Given the description of an element on the screen output the (x, y) to click on. 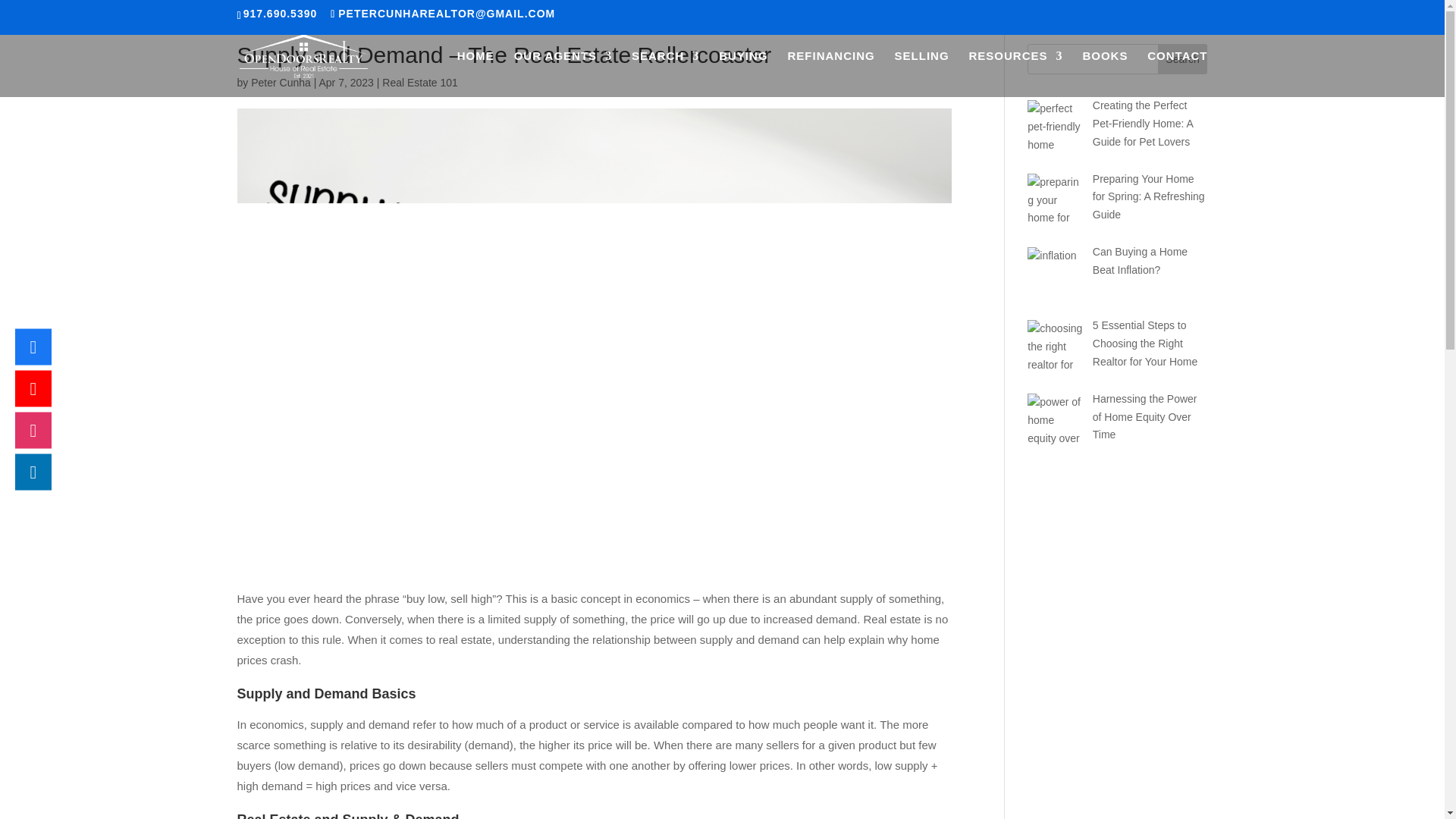
Search (1182, 59)
Peter Cunha (280, 82)
Serach  (664, 69)
Can Buying a Home Beat Inflation? (1140, 260)
Real Estate 101 (419, 82)
Selling your Home (922, 69)
Buying a Home (743, 69)
CONTACT (1177, 69)
Search (1182, 59)
